Given the description of an element on the screen output the (x, y) to click on. 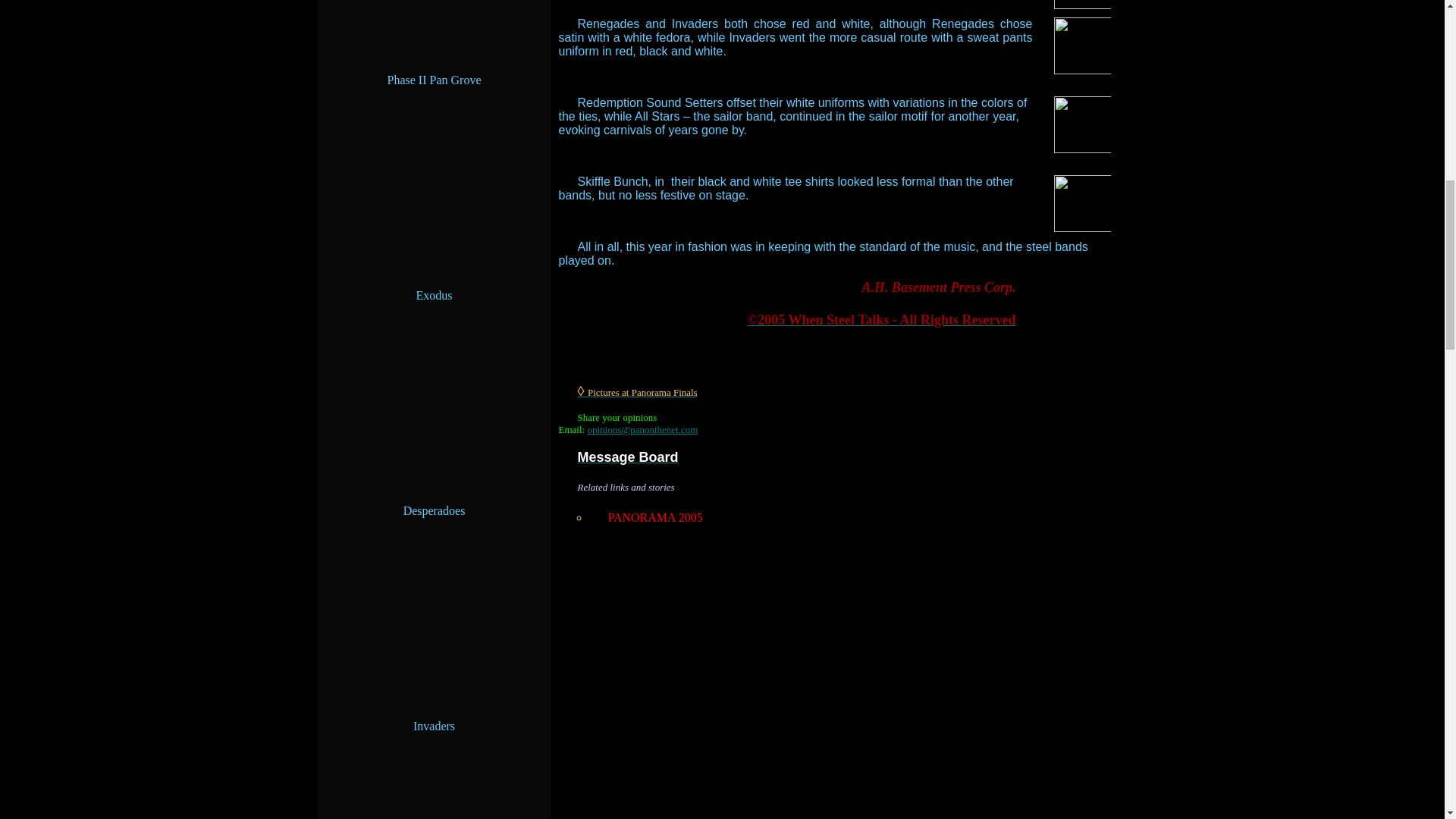
Message Board (628, 457)
Steelpan Panorama 2005 - Clive Bradley - Desperadoes (743, 678)
